Given the description of an element on the screen output the (x, y) to click on. 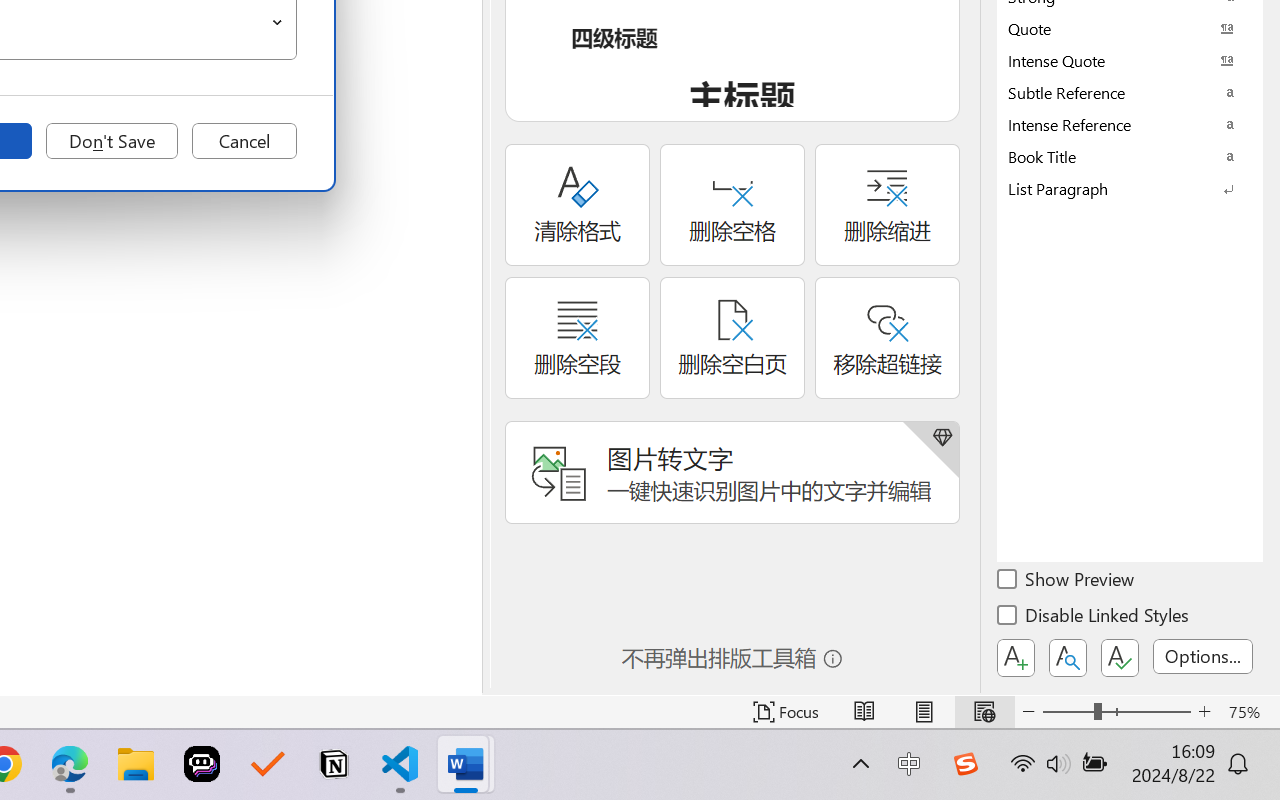
Quote (1130, 28)
Zoom Out (1067, 712)
